Given the description of an element on the screen output the (x, y) to click on. 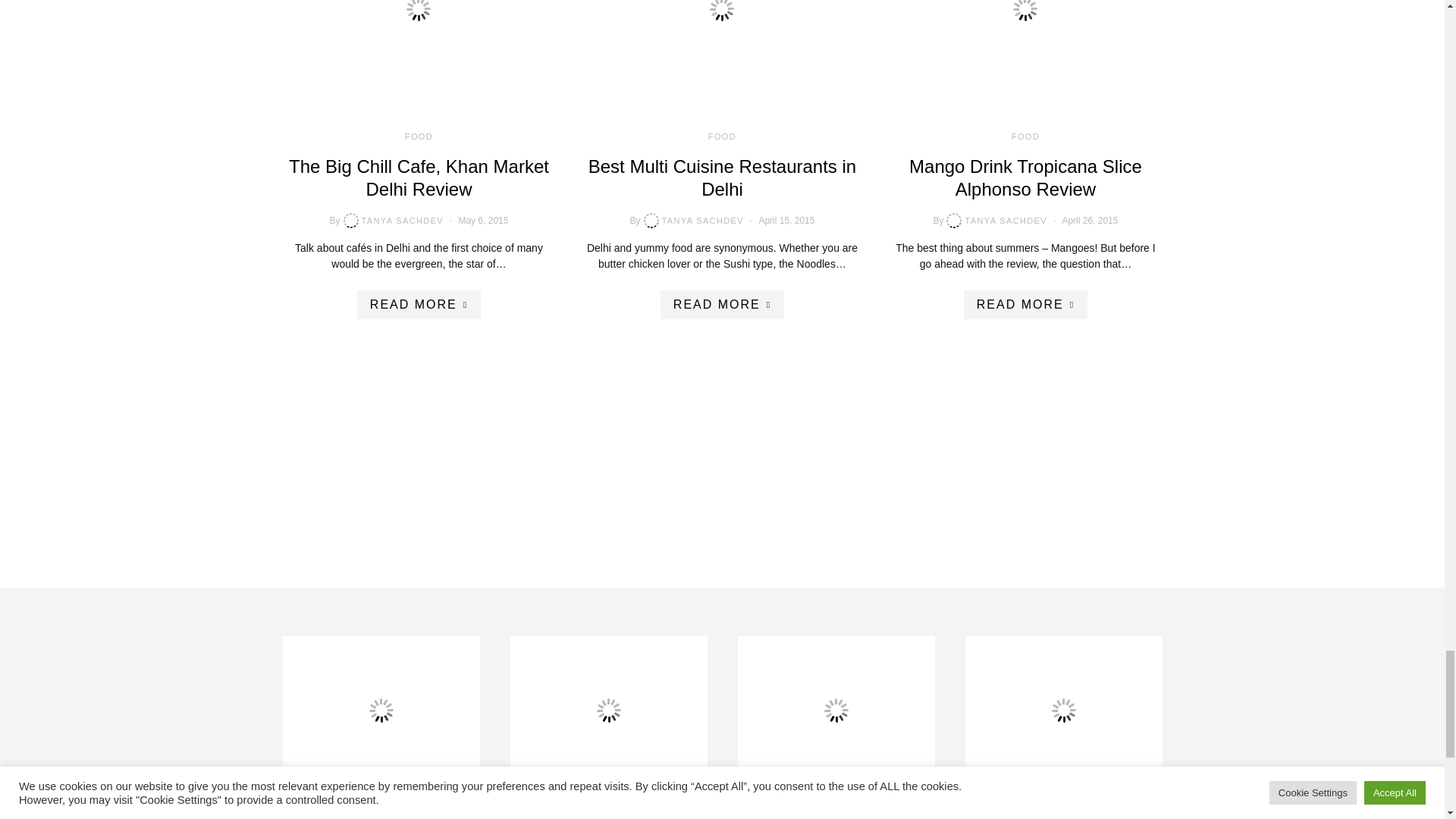
View all posts by Tanya Sachdev (692, 220)
View all posts by Tanya Sachdev (994, 220)
View all posts by Tanya Sachdev (392, 220)
